Given the description of an element on the screen output the (x, y) to click on. 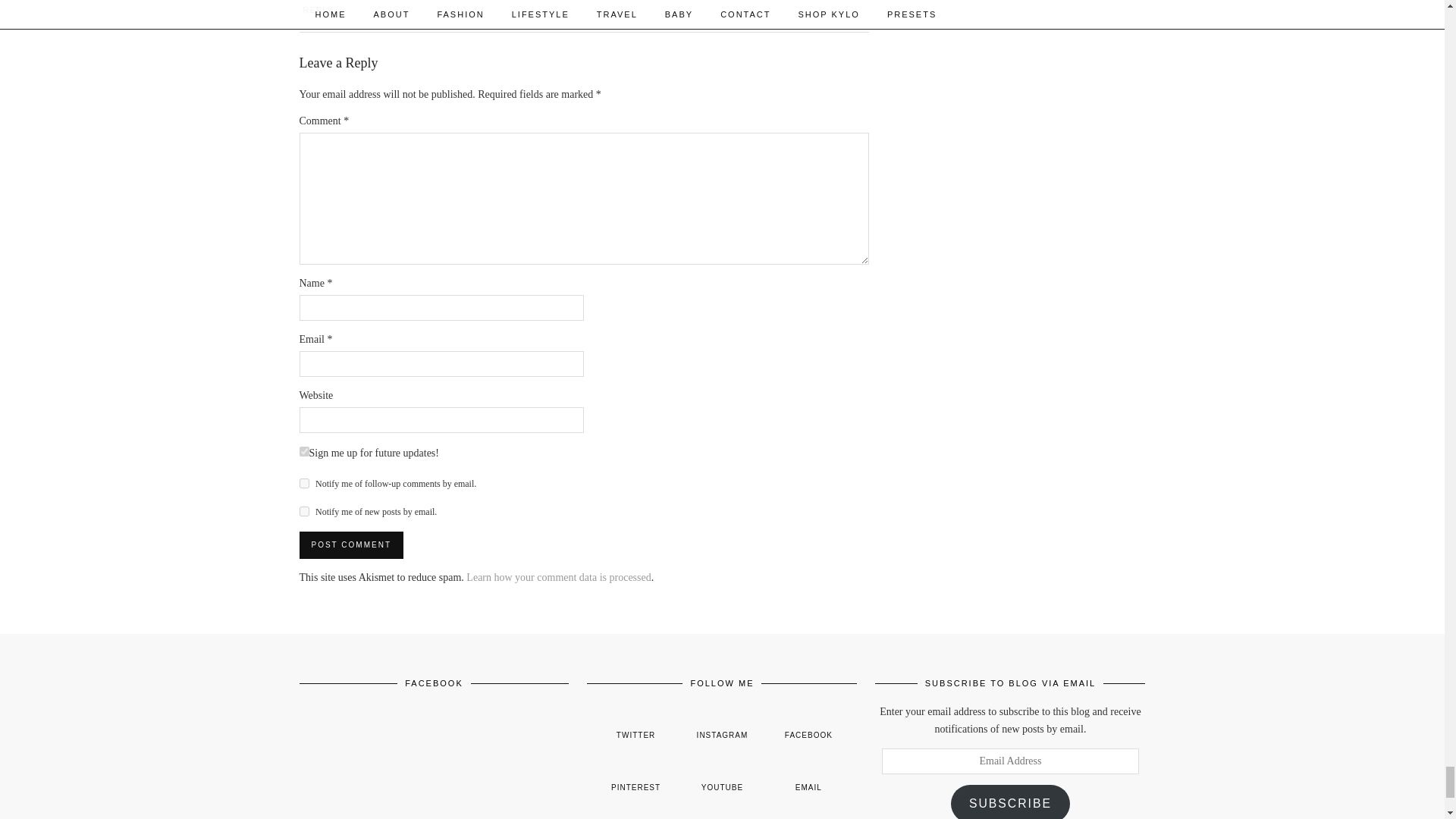
subscribe (303, 511)
subscribe (303, 483)
Post Comment (350, 544)
1 (303, 451)
